Given the description of an element on the screen output the (x, y) to click on. 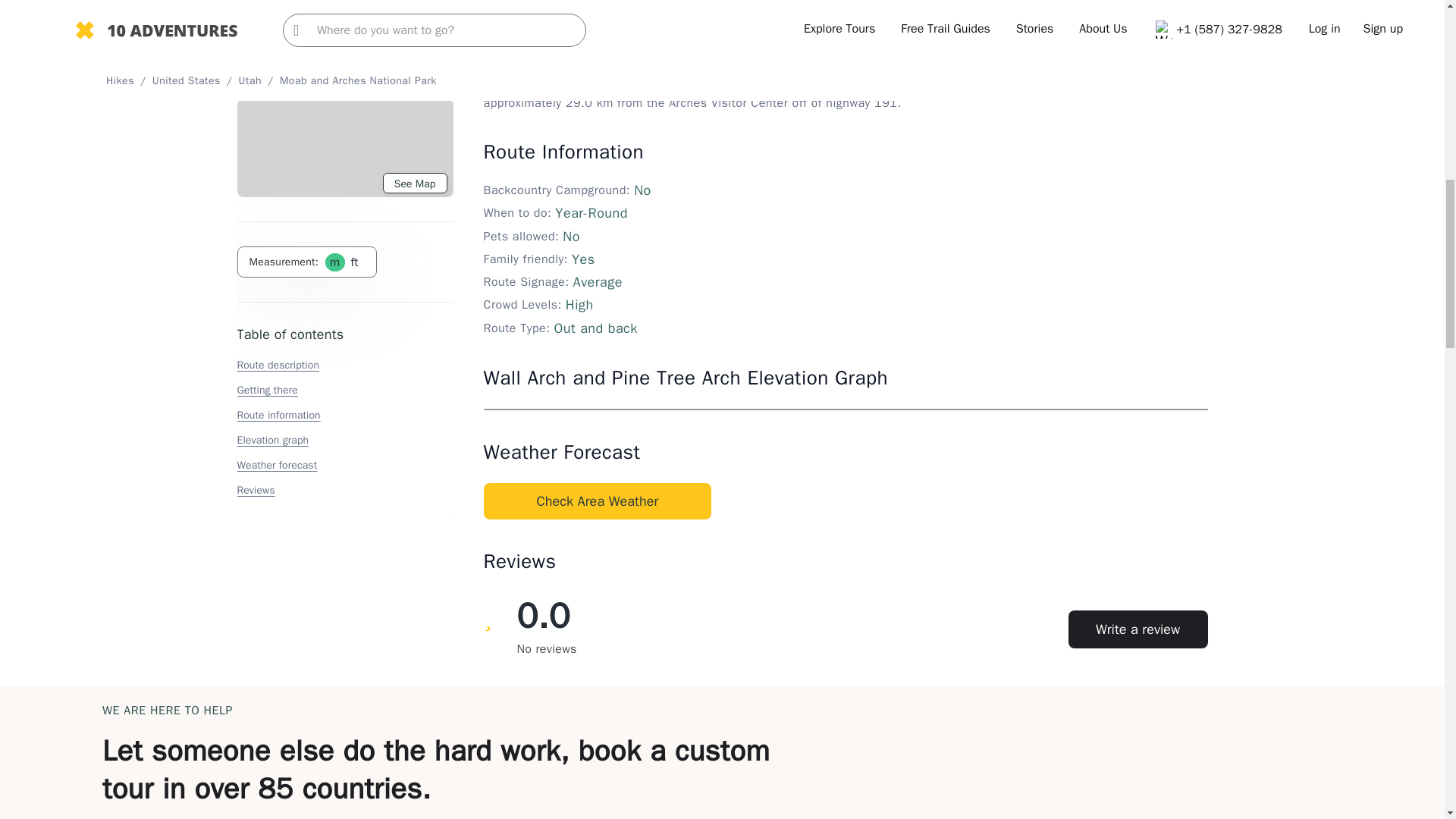
Weather forecast (276, 60)
Reviews (255, 85)
Route information (277, 10)
Elevation graph (271, 35)
